Given the description of an element on the screen output the (x, y) to click on. 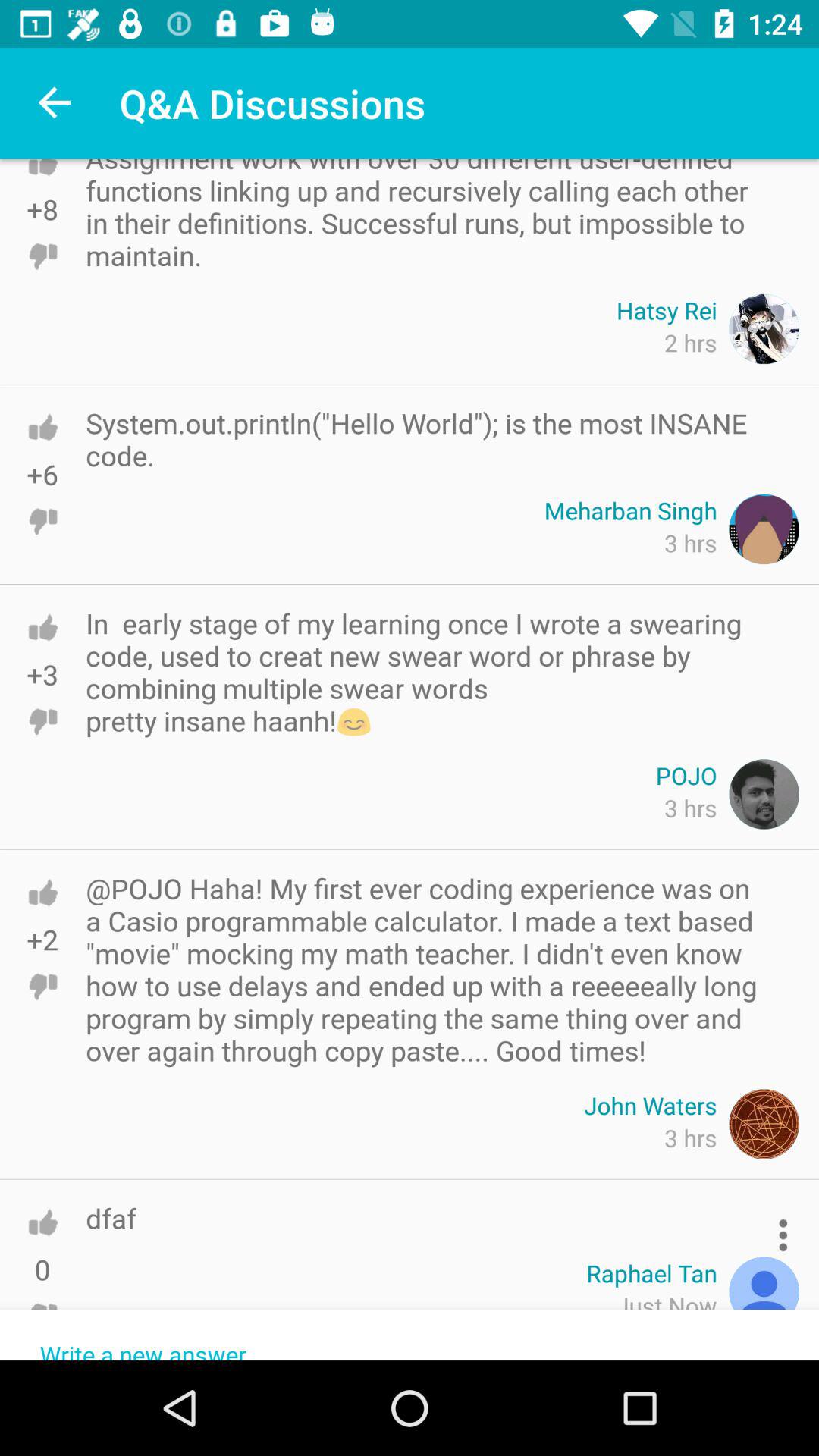
click dislike (42, 521)
